Given the description of an element on the screen output the (x, y) to click on. 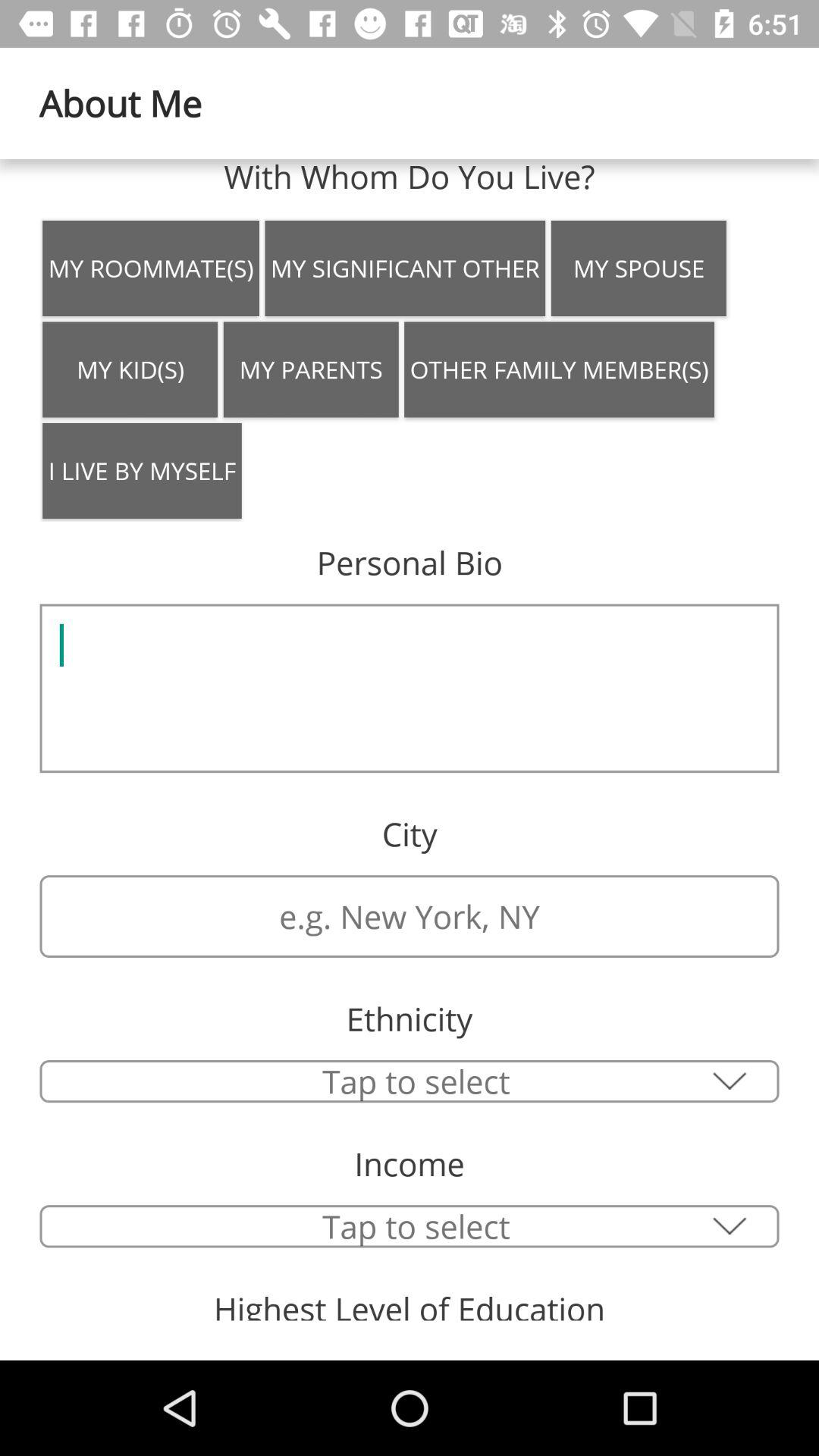
jump to other family member item (559, 369)
